Given the description of an element on the screen output the (x, y) to click on. 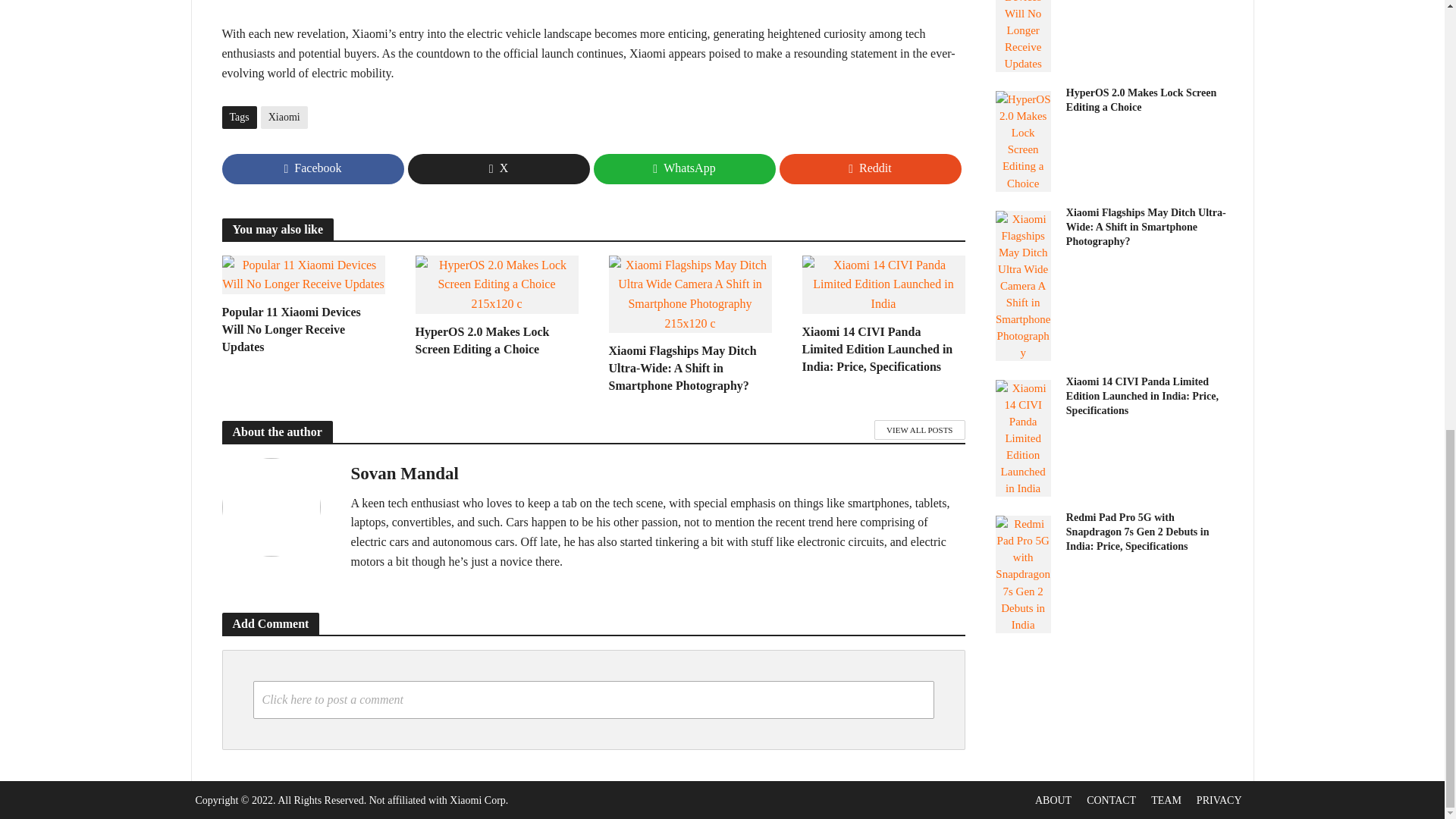
Popular 11 Xiaomi Devices Will No Longer Receive Updates (302, 273)
Xiaomi (283, 117)
Popular 11 Xiaomi Devices Will No Longer Receive Updates (302, 329)
HyperOS 2.0 Makes Lock Screen Editing a Choice (496, 339)
Facebook (312, 168)
Reddit (869, 168)
HyperOS 2.0 Makes Lock Screen Editing a Choice (496, 282)
X (498, 168)
